Given the description of an element on the screen output the (x, y) to click on. 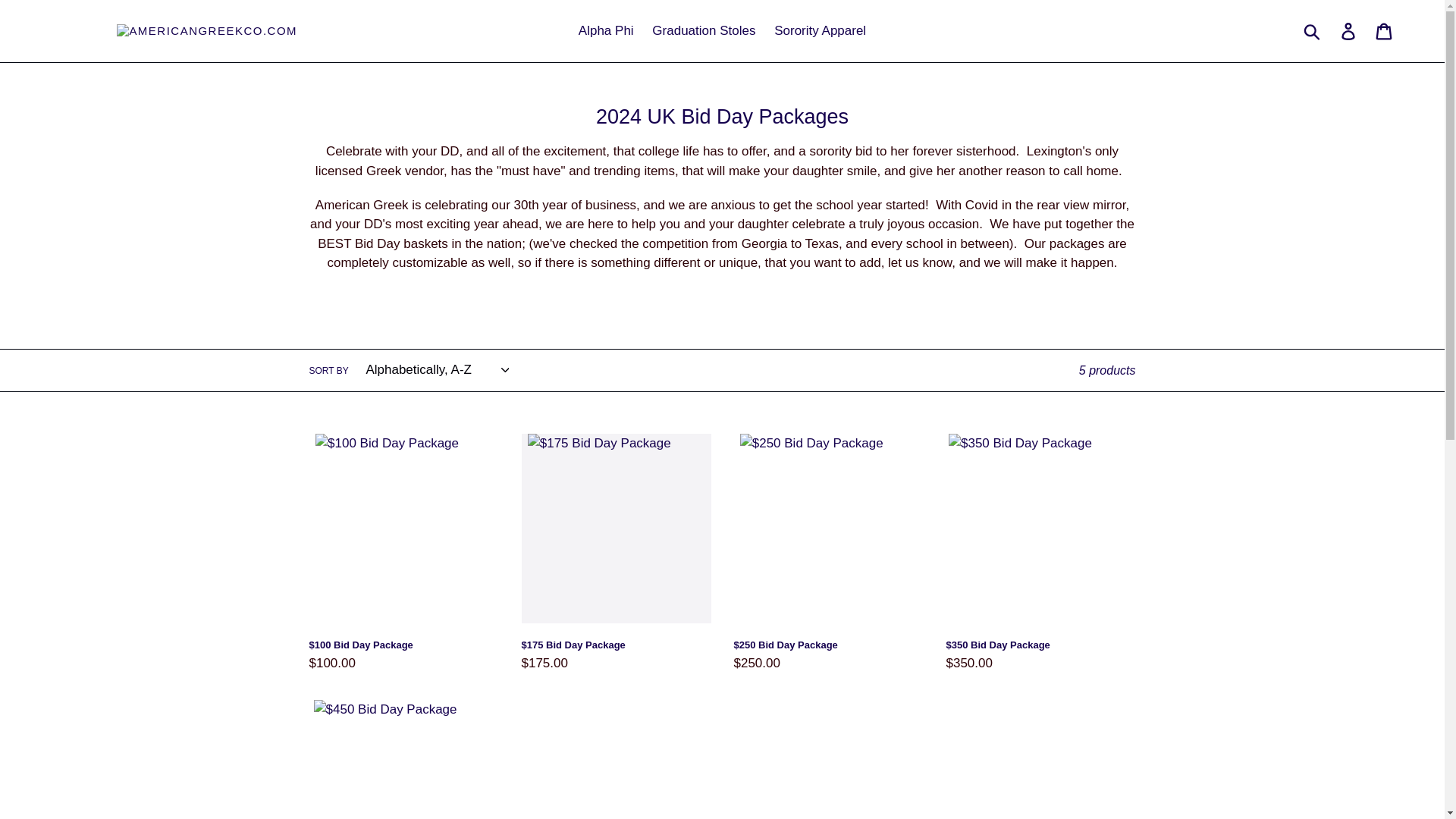
Log in (1349, 30)
Sign In (721, 280)
Cart (1385, 30)
Sorority Apparel (820, 30)
Alpha Phi (606, 30)
Submit (1313, 30)
Graduation Stoles (703, 30)
